Given the description of an element on the screen output the (x, y) to click on. 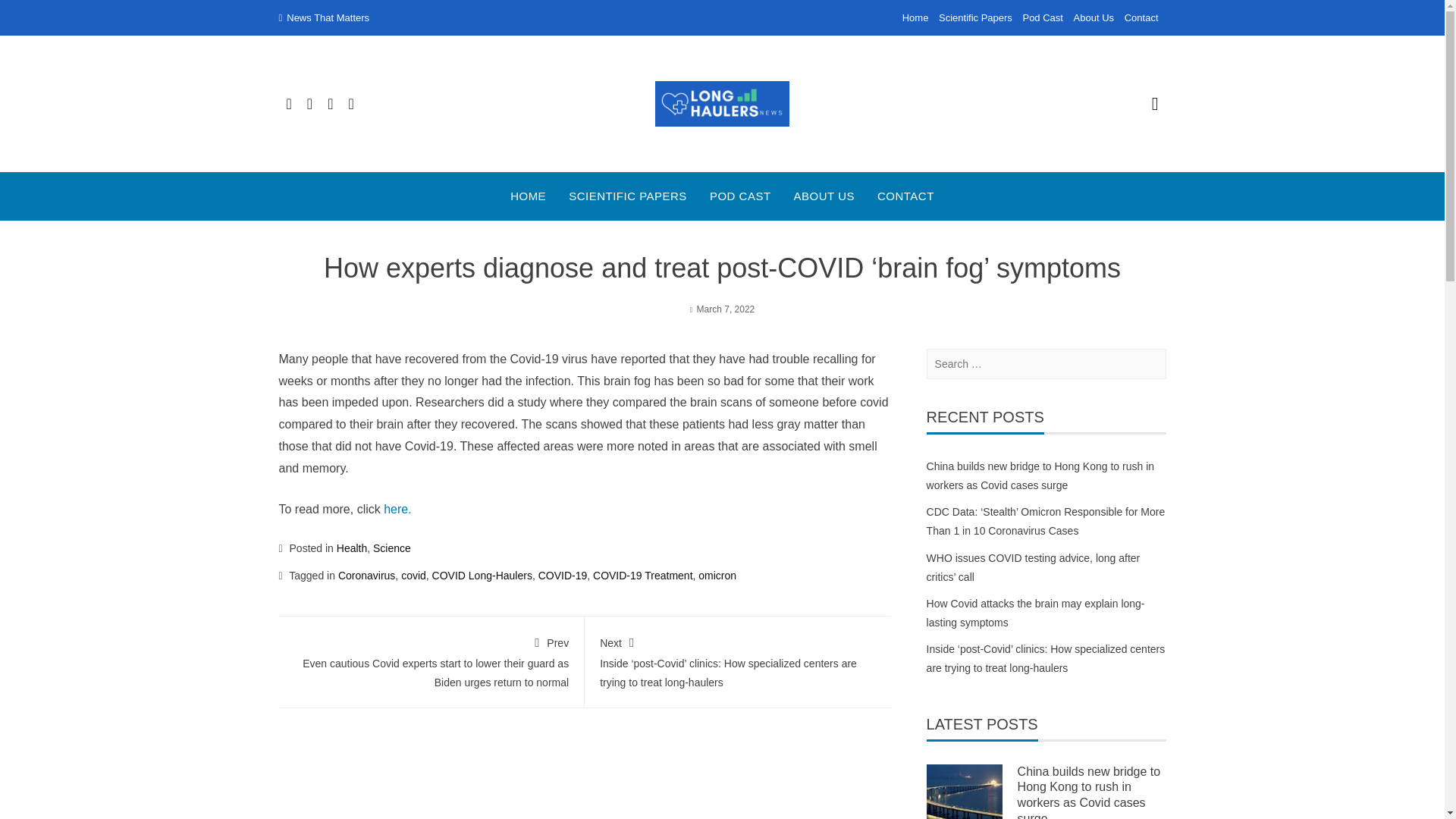
Contact (1141, 17)
Health (351, 548)
Home (915, 17)
ABOUT US (823, 196)
Search (32, 15)
covid (413, 575)
Scientific Papers (975, 17)
COVID-19 Treatment (642, 575)
Coronavirus (365, 575)
About Us (1093, 17)
Science (391, 548)
SCIENTIFIC PAPERS (628, 196)
COVID Long-Haulers (482, 575)
